Given the description of an element on the screen output the (x, y) to click on. 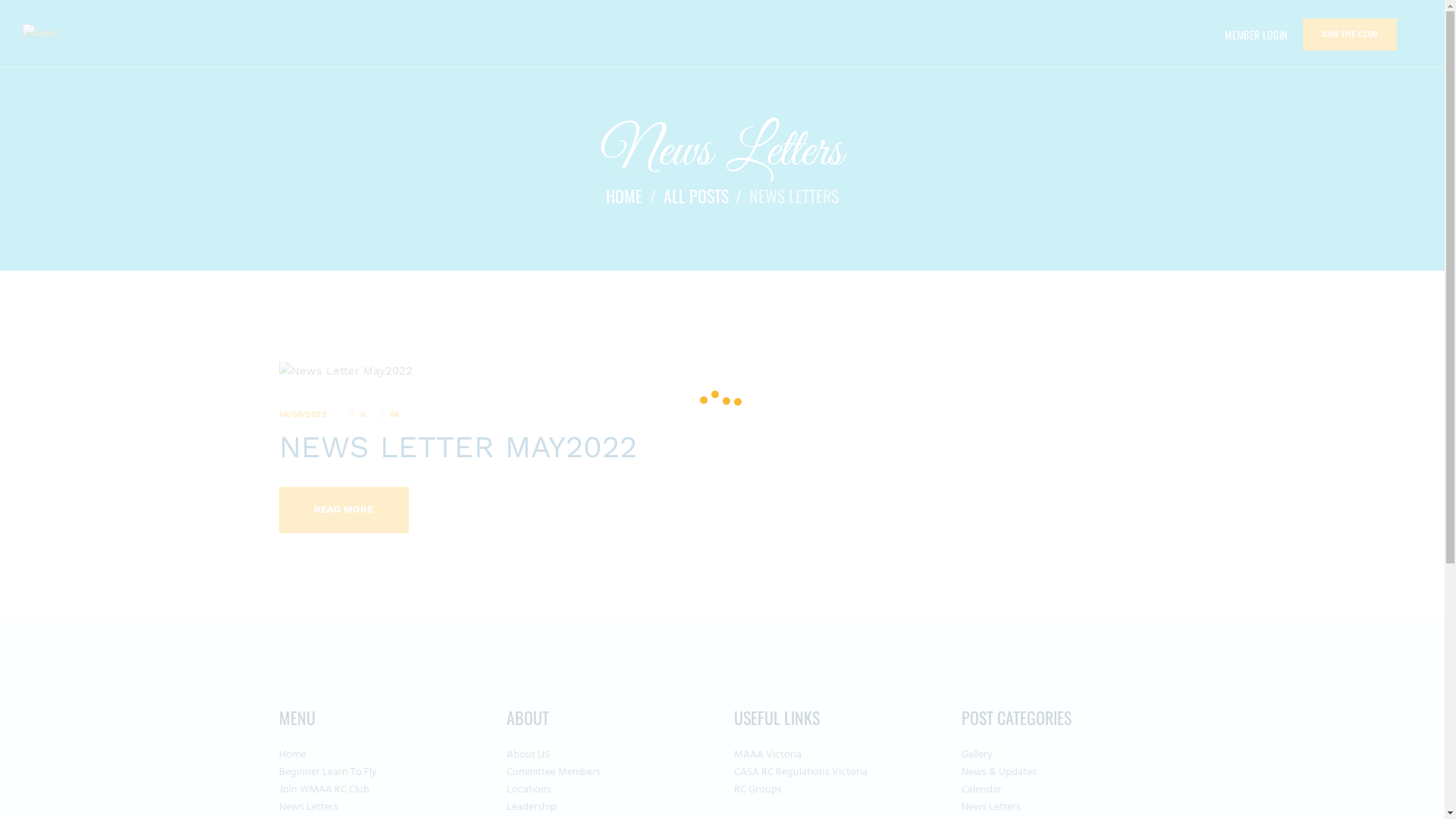
Calendar Element type: text (981, 789)
14/05/2022 Element type: text (302, 414)
Committee Members Element type: text (553, 772)
News Letters Element type: text (308, 806)
Gallery Element type: text (976, 754)
CASA RC Regulations Victoria Element type: text (800, 772)
0 Element type: text (358, 414)
News Letters Element type: text (990, 806)
MAAA Victoria Element type: text (767, 754)
JOIN THE CLUB Element type: text (1349, 34)
MEMBER LOGIN Element type: text (1255, 34)
About US Element type: text (527, 754)
NEWS LETTER MAY2022 Element type: text (722, 446)
Locations Element type: text (528, 789)
Leadership Element type: text (531, 806)
ALL POSTS Element type: text (695, 195)
Join WMAA RC Club Element type: text (324, 789)
56 Element type: text (390, 414)
READ MORE Element type: text (343, 509)
RC Groups Element type: text (757, 789)
HOME Element type: text (623, 195)
Home Element type: text (292, 754)
News & Updates Element type: text (998, 772)
Beginner Learn To Fly Element type: text (327, 772)
